Given the description of an element on the screen output the (x, y) to click on. 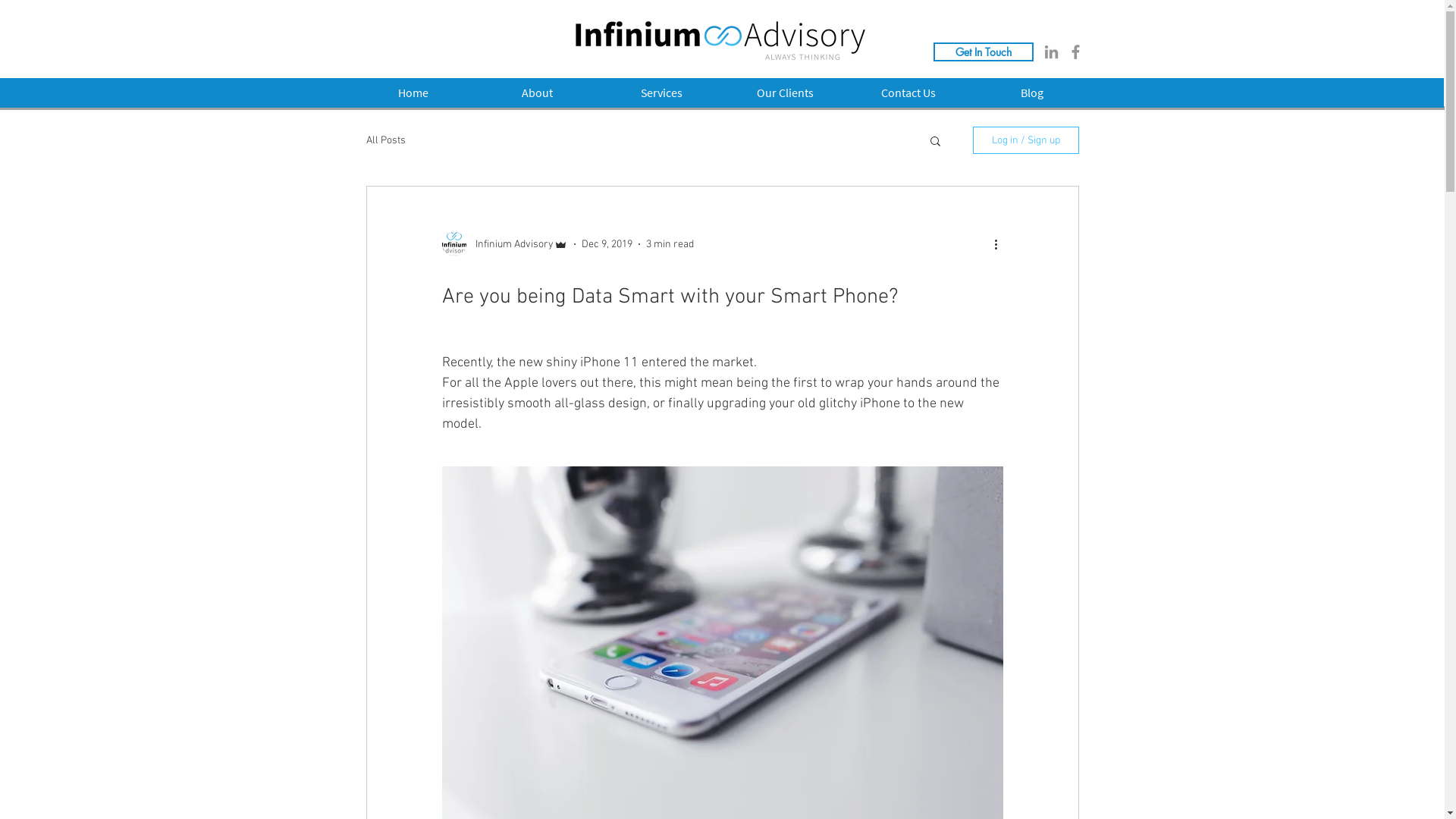
Home Element type: text (412, 92)
About Element type: text (536, 92)
All Posts Element type: text (384, 139)
Our Clients Element type: text (785, 92)
Get In Touch Element type: text (982, 51)
Services Element type: text (660, 92)
Blog Element type: text (1032, 92)
Log in / Sign up Element type: text (1025, 139)
Contact Us Element type: text (907, 92)
